Given the description of an element on the screen output the (x, y) to click on. 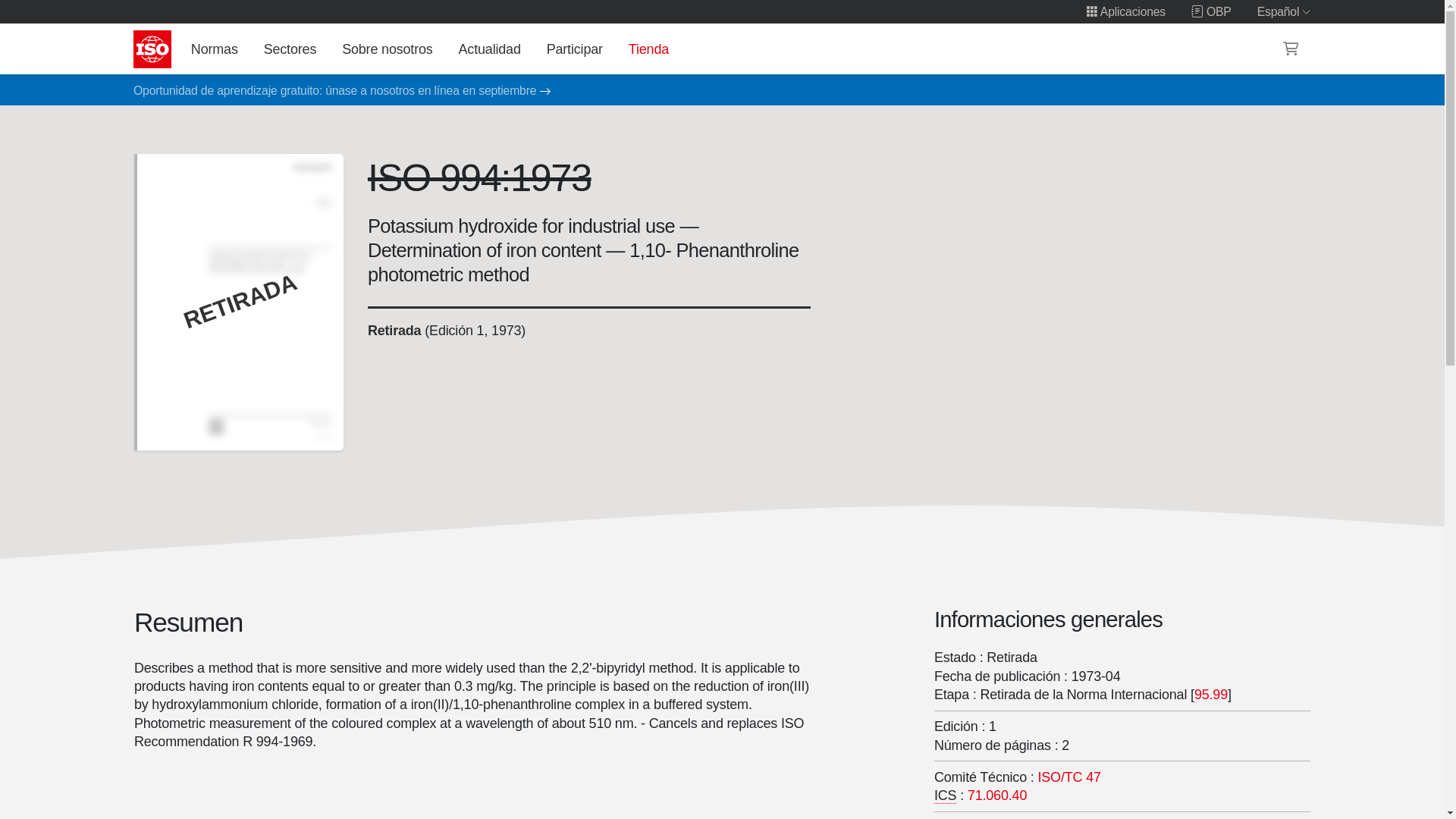
Portal de aplicaciones de ISO (1126, 11)
Carro de la compra (1290, 49)
71.060.40 (997, 795)
Sectores (290, 48)
Ciclo de vida (393, 330)
 Aplicaciones (1126, 11)
Normas (214, 48)
